Given the description of an element on the screen output the (x, y) to click on. 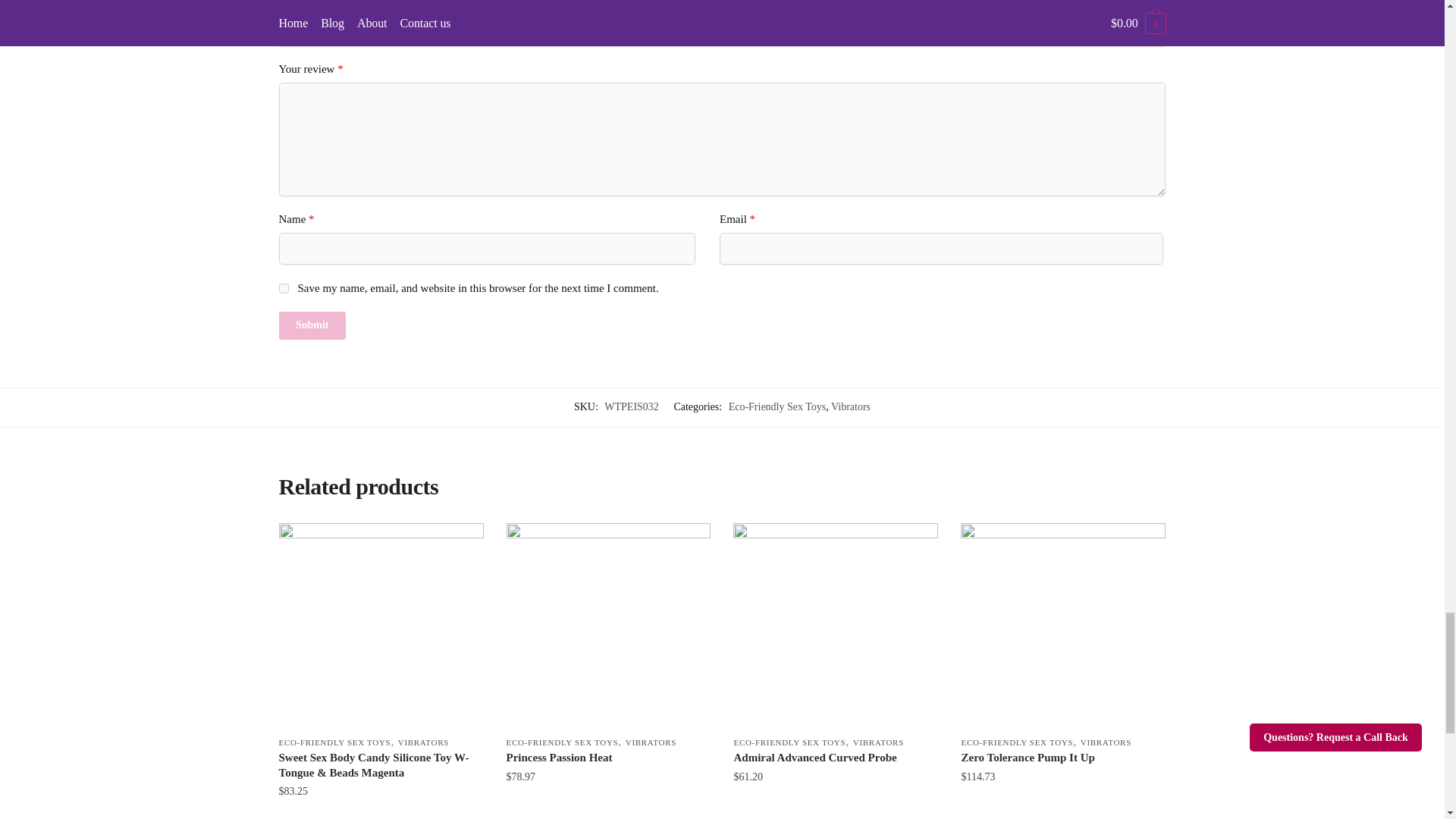
yes (283, 288)
Submit (312, 325)
